Given the description of an element on the screen output the (x, y) to click on. 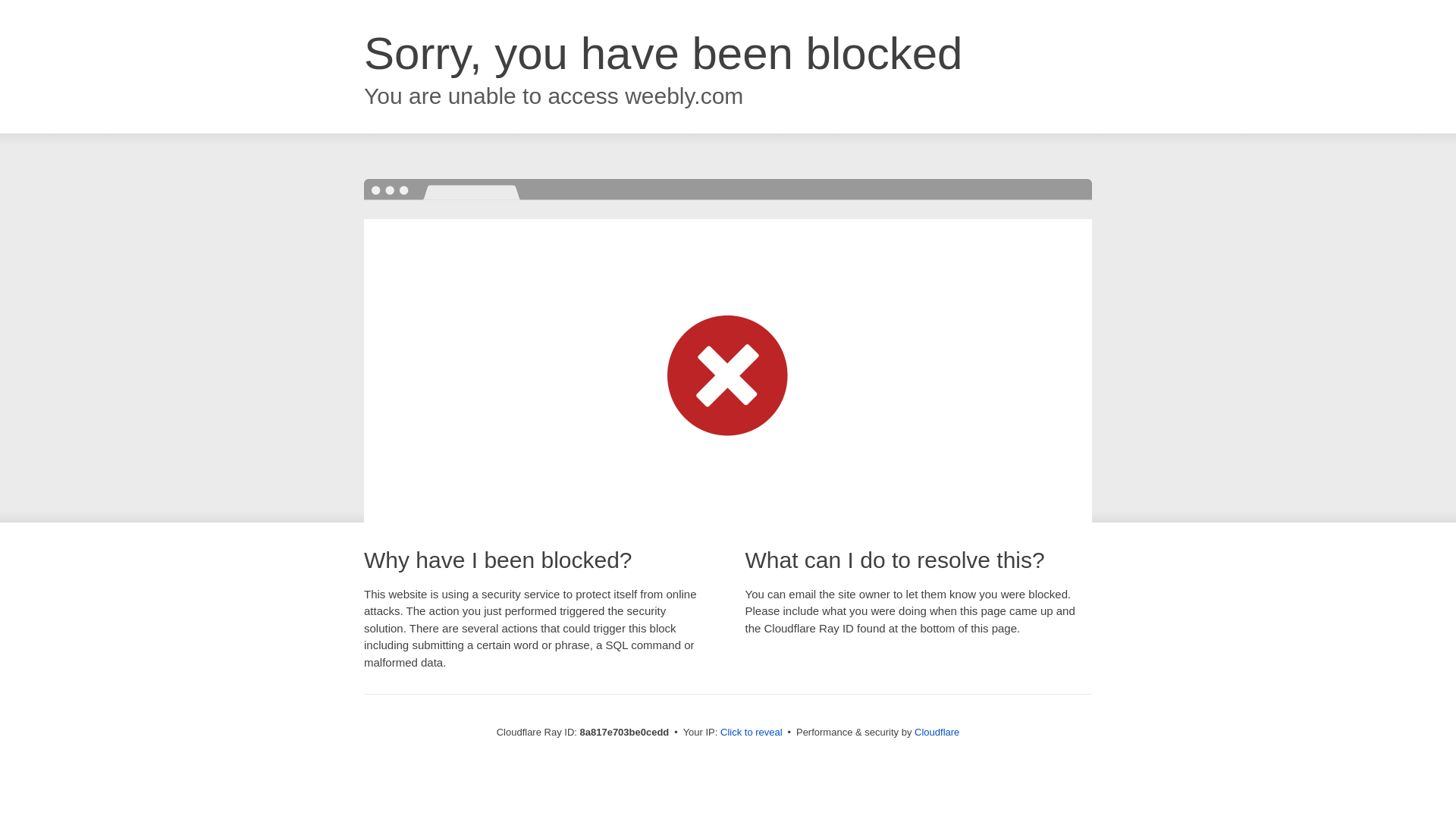
Cloudflare (936, 731)
Click to reveal (751, 732)
